Given the description of an element on the screen output the (x, y) to click on. 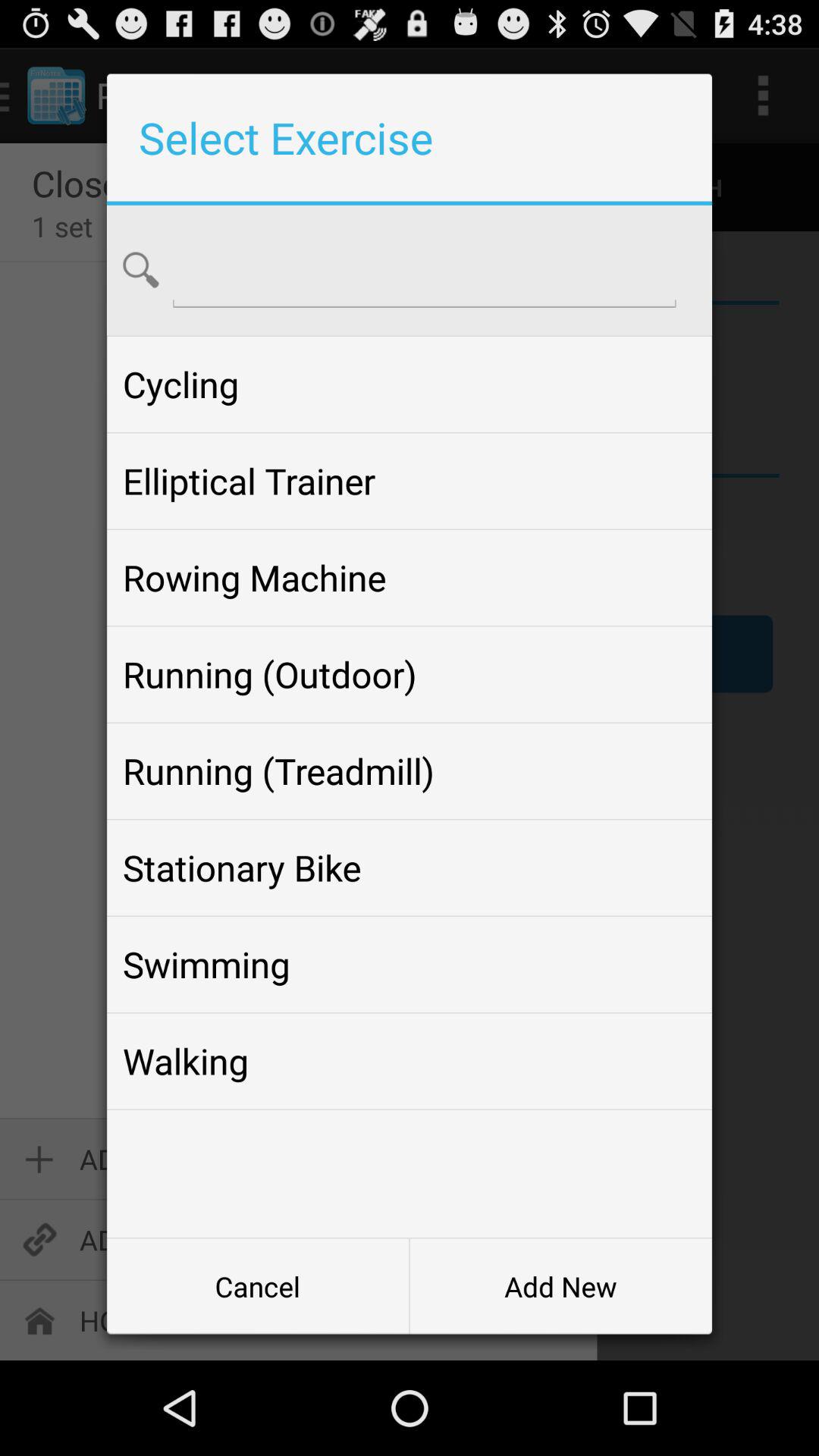
swipe to running (outdoor) (409, 674)
